Given the description of an element on the screen output the (x, y) to click on. 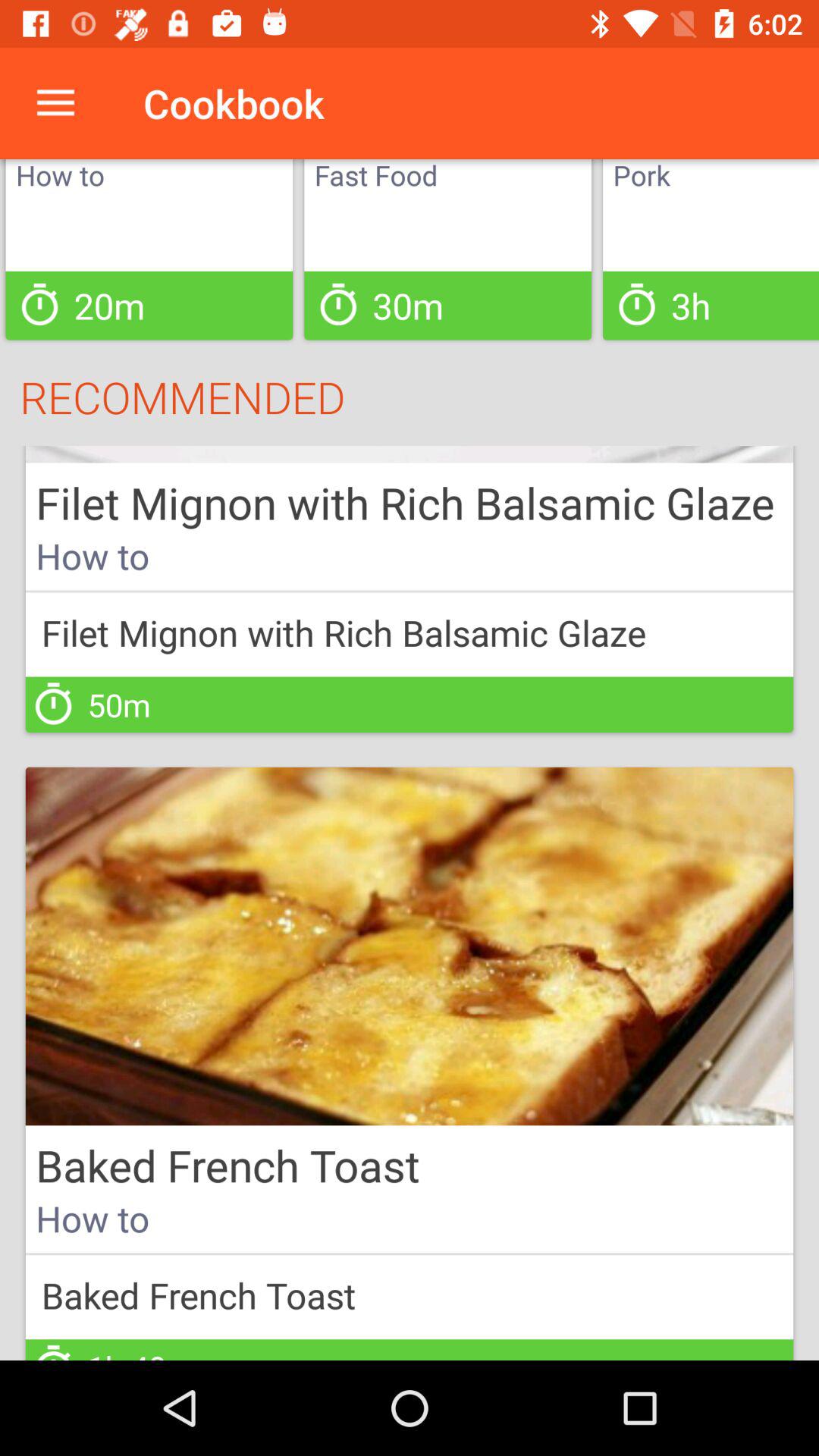
choose icon above how to (55, 103)
